Given the description of an element on the screen output the (x, y) to click on. 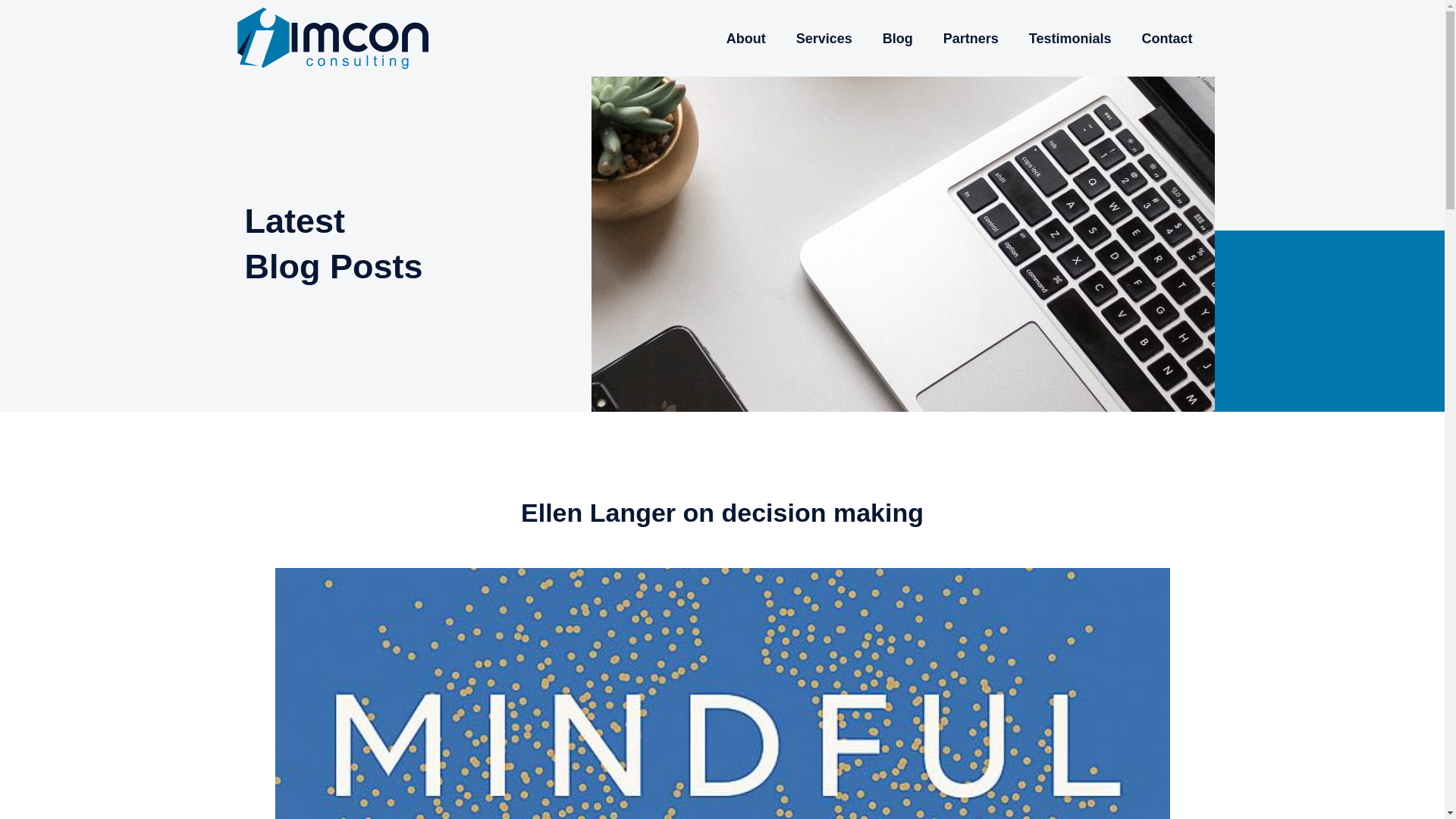
About (745, 38)
Services (823, 38)
Contact (1167, 38)
Testimonials (1069, 38)
Partners (970, 38)
Blog (897, 38)
